Given the description of an element on the screen output the (x, y) to click on. 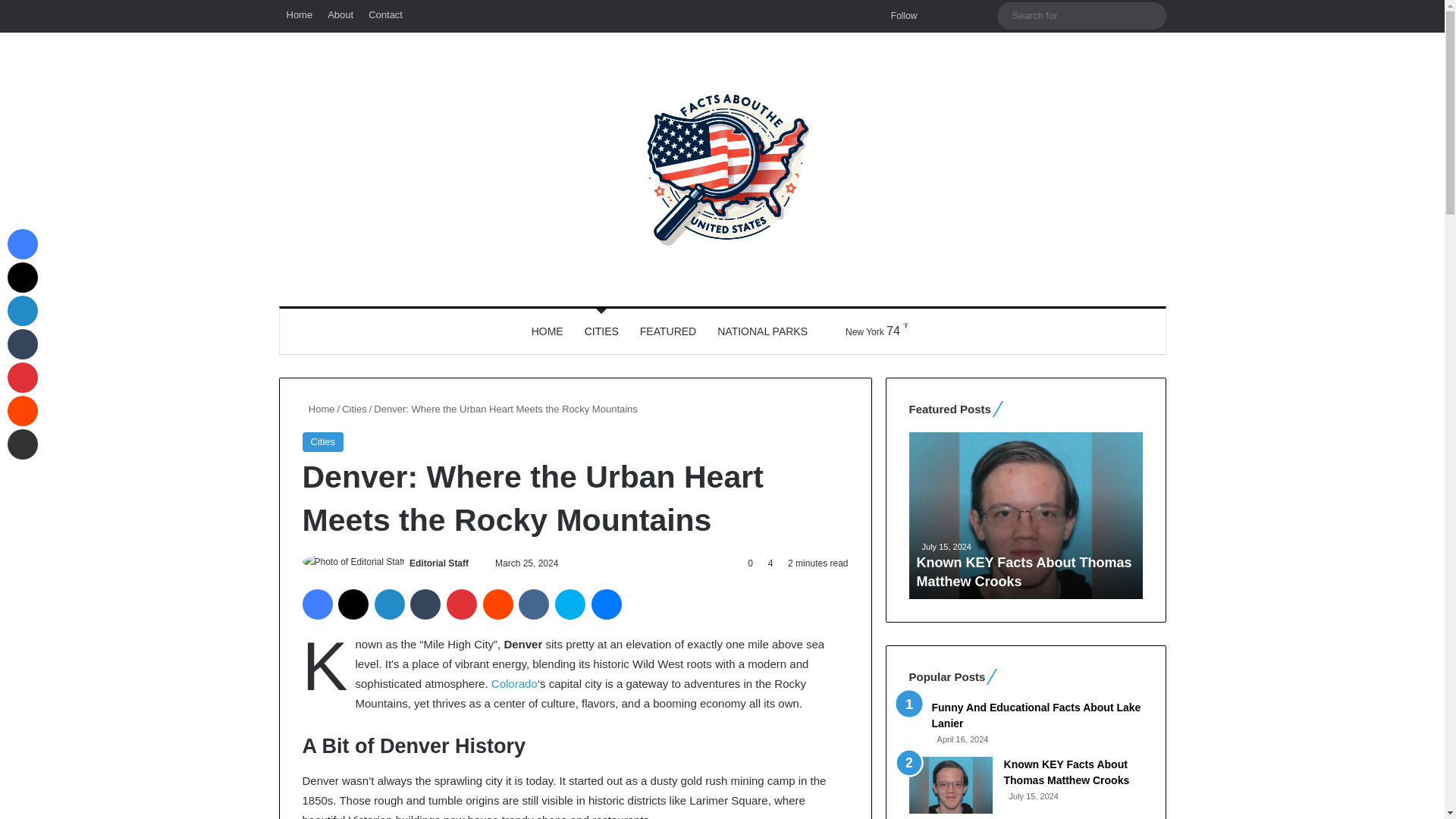
NATIONAL PARKS (762, 330)
Scattered Clouds (863, 330)
Pinterest (461, 603)
Cities (354, 408)
FEATURED (667, 330)
Editorial Staff (438, 562)
Skype (569, 603)
LinkedIn (389, 603)
Contact (385, 15)
LinkedIn (389, 603)
